Given the description of an element on the screen output the (x, y) to click on. 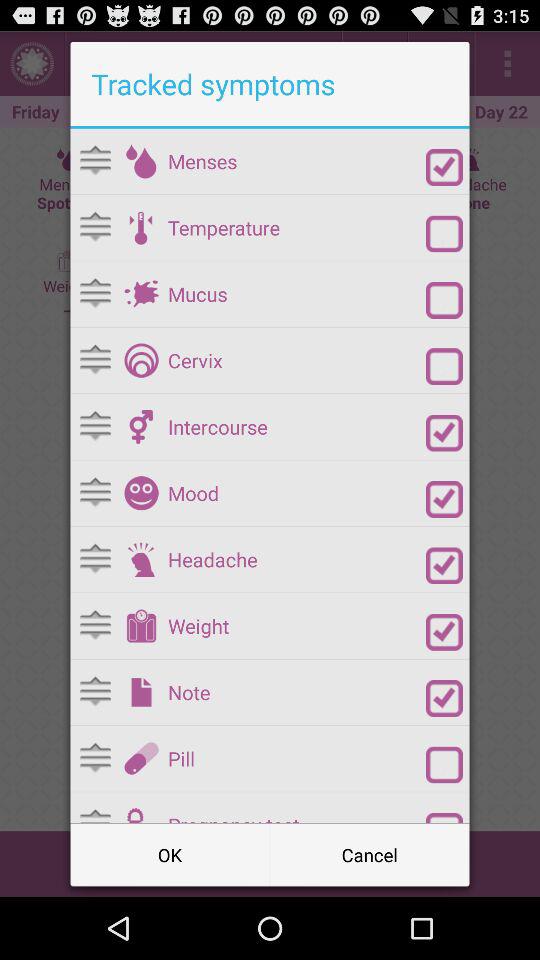
open temperature (141, 227)
